Given the description of an element on the screen output the (x, y) to click on. 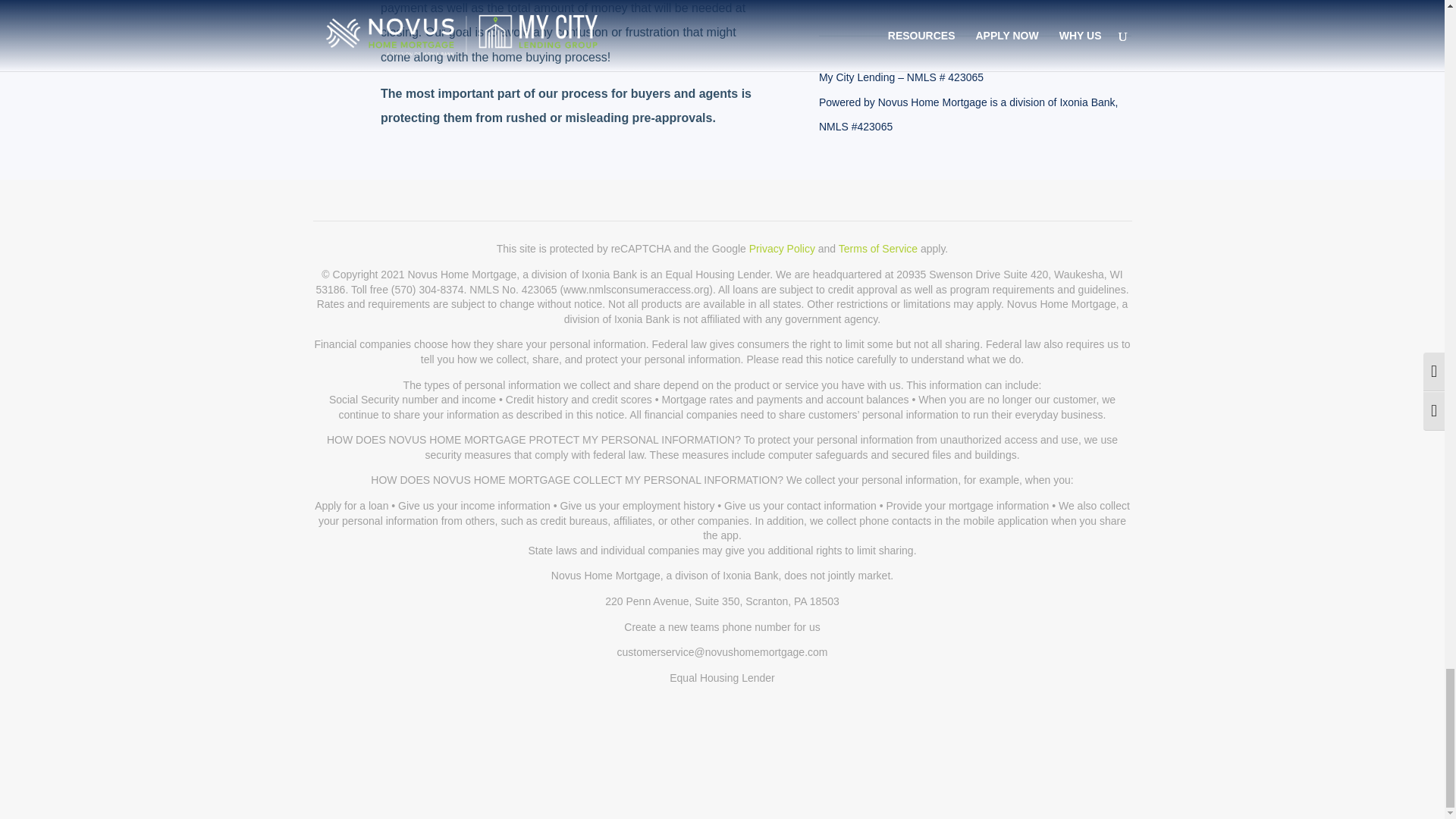
Terms of Service (877, 248)
Privacy Policy (782, 248)
